Given the description of an element on the screen output the (x, y) to click on. 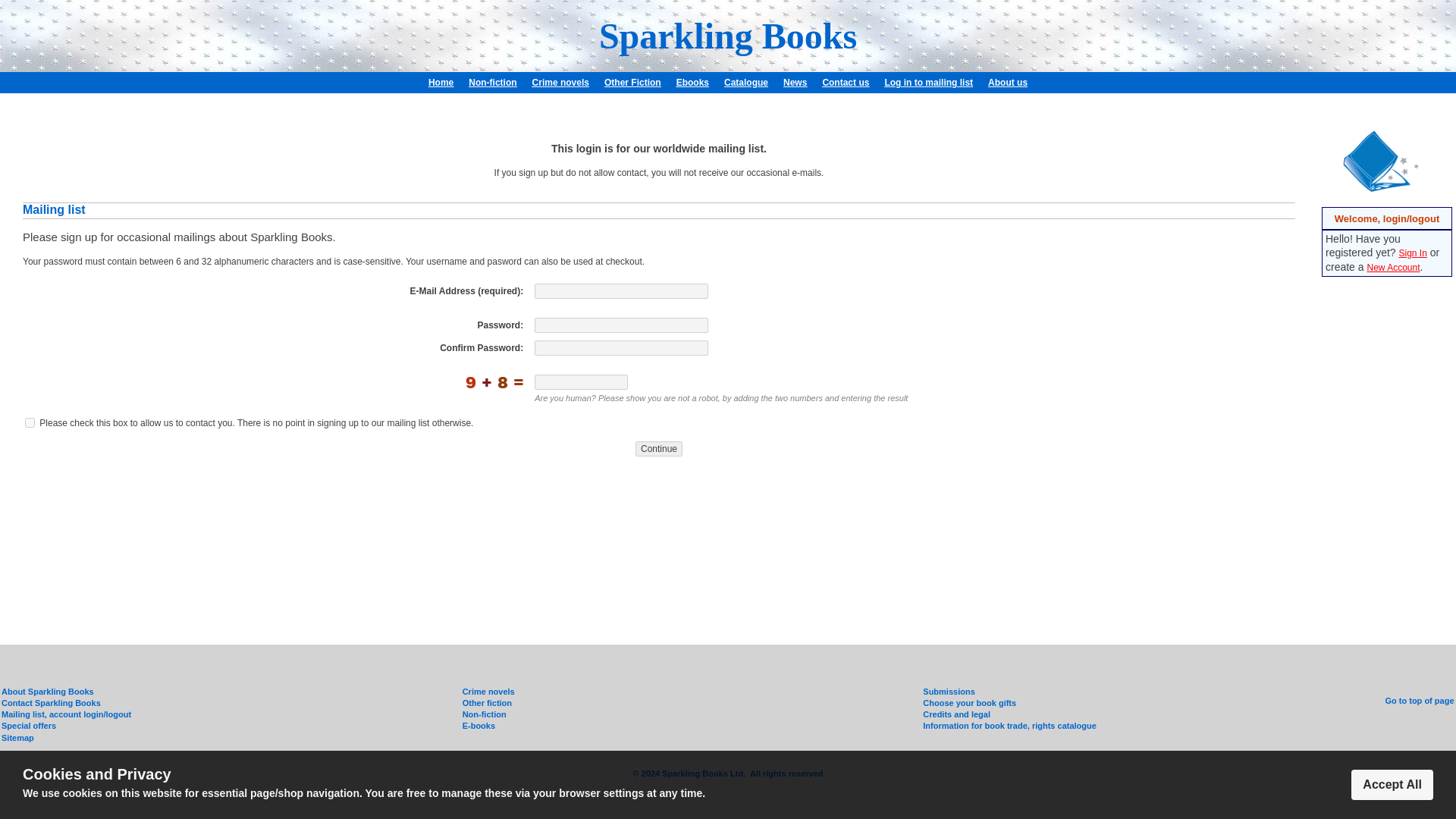
Special offers (28, 725)
Politics, societyt, economics, finance (492, 81)
About Sparkling Books (1007, 81)
The home page varies around the world (440, 81)
Credits and legal (956, 714)
Home (440, 81)
Log in to mailing list (927, 81)
Contact Sparkling Books (845, 81)
Other Fiction (632, 81)
Contact Sparkling Books (50, 702)
Non-fiction (492, 81)
Sign In (1411, 253)
Non-fiction (484, 714)
Go to top of page (1418, 700)
Crime novels (489, 691)
